Given the description of an element on the screen output the (x, y) to click on. 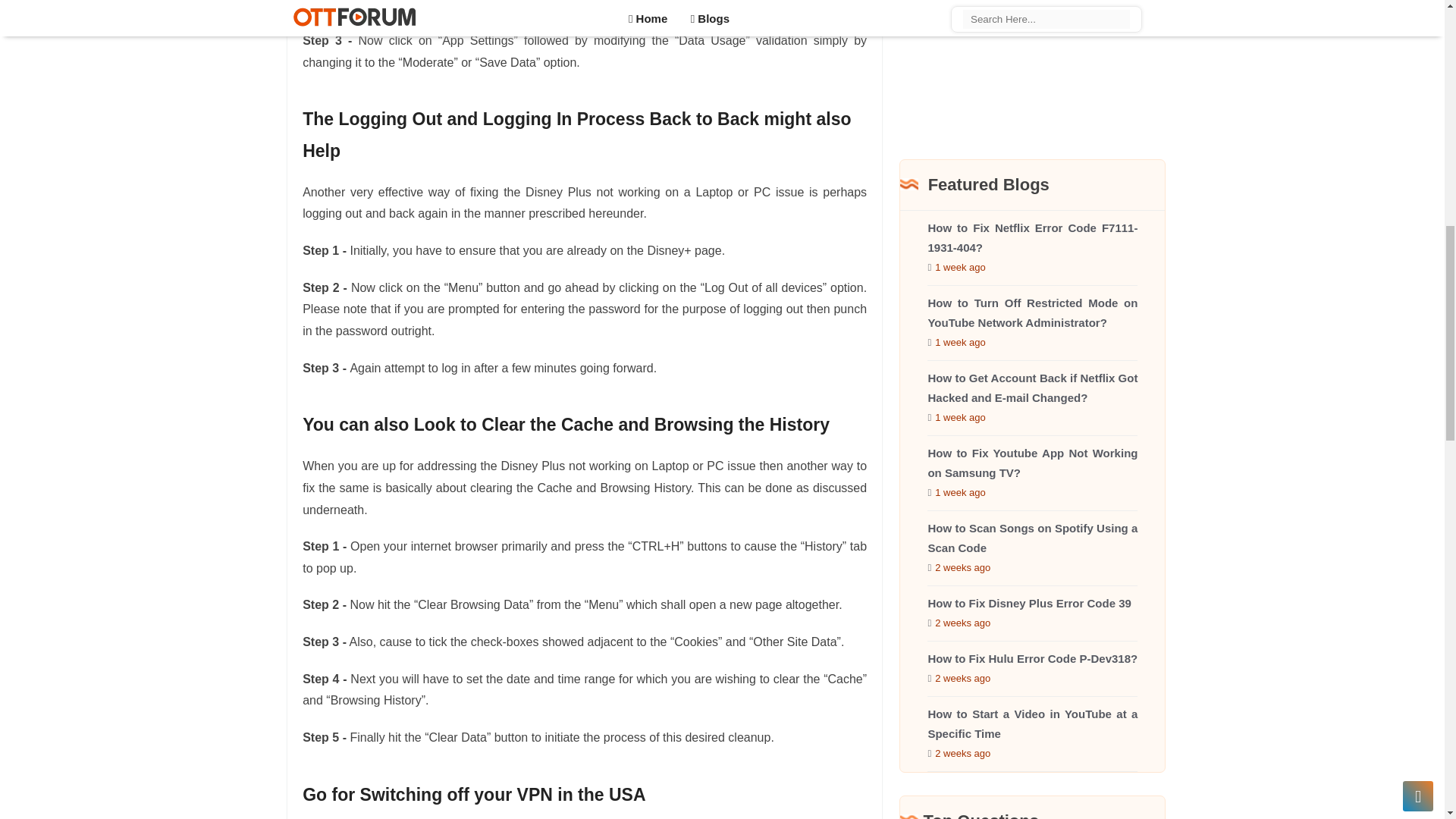
How to Scan Songs on Spotify Using a Scan Code (1032, 537)
How to Start a Video in YouTube at a Specific Time (1032, 723)
How to Fix Netflix Error Code F7111-1931-404? (1032, 237)
How to Fix Hulu Error Code P-Dev318? (1032, 658)
How to Fix Youtube App Not Working on Samsung TV? (1032, 462)
How to Fix Disney Plus Error Code 39 (1029, 603)
